Given the description of an element on the screen output the (x, y) to click on. 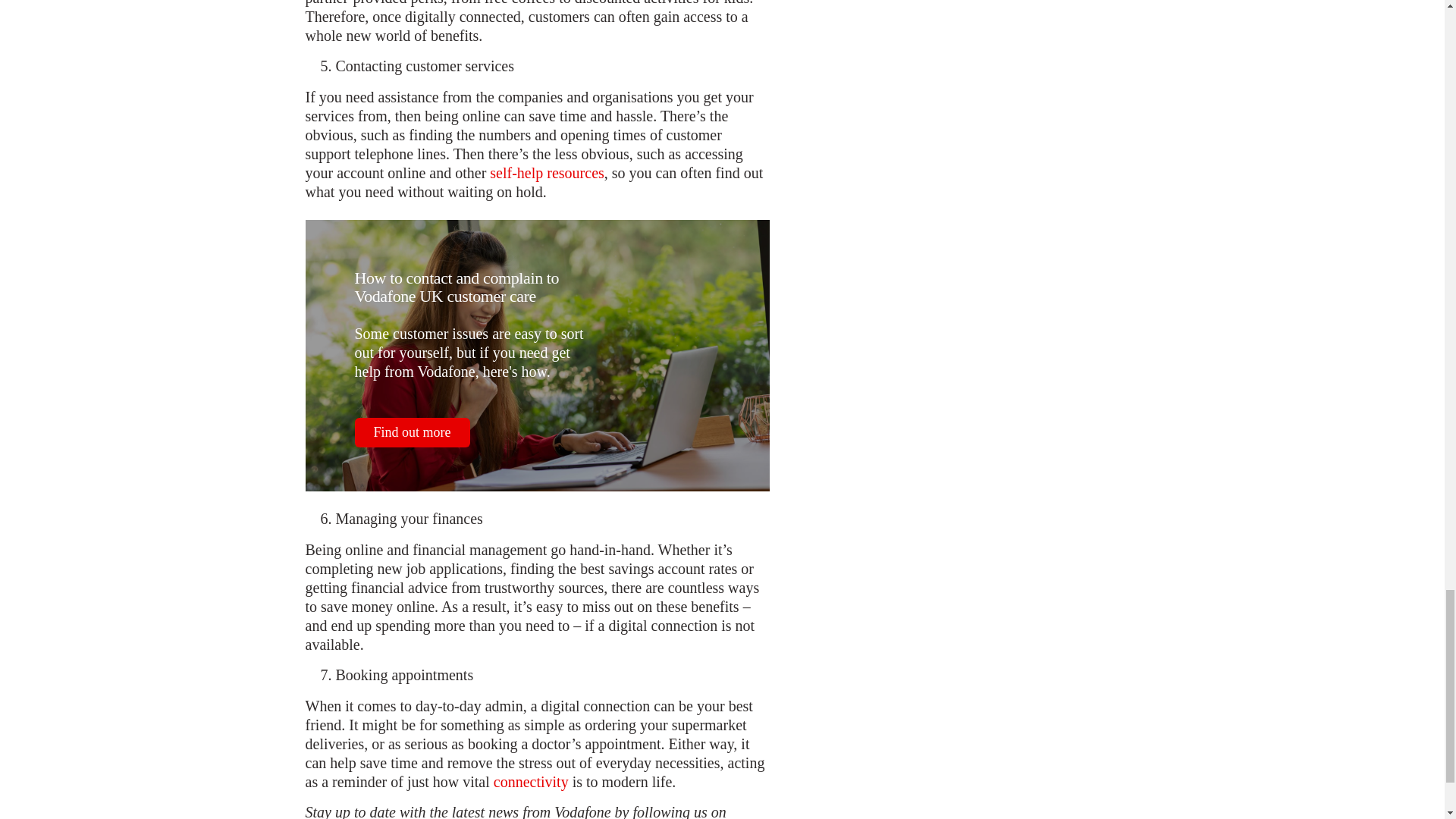
connectivity (531, 782)
Find out more (412, 432)
self-help resources (546, 172)
